Given the description of an element on the screen output the (x, y) to click on. 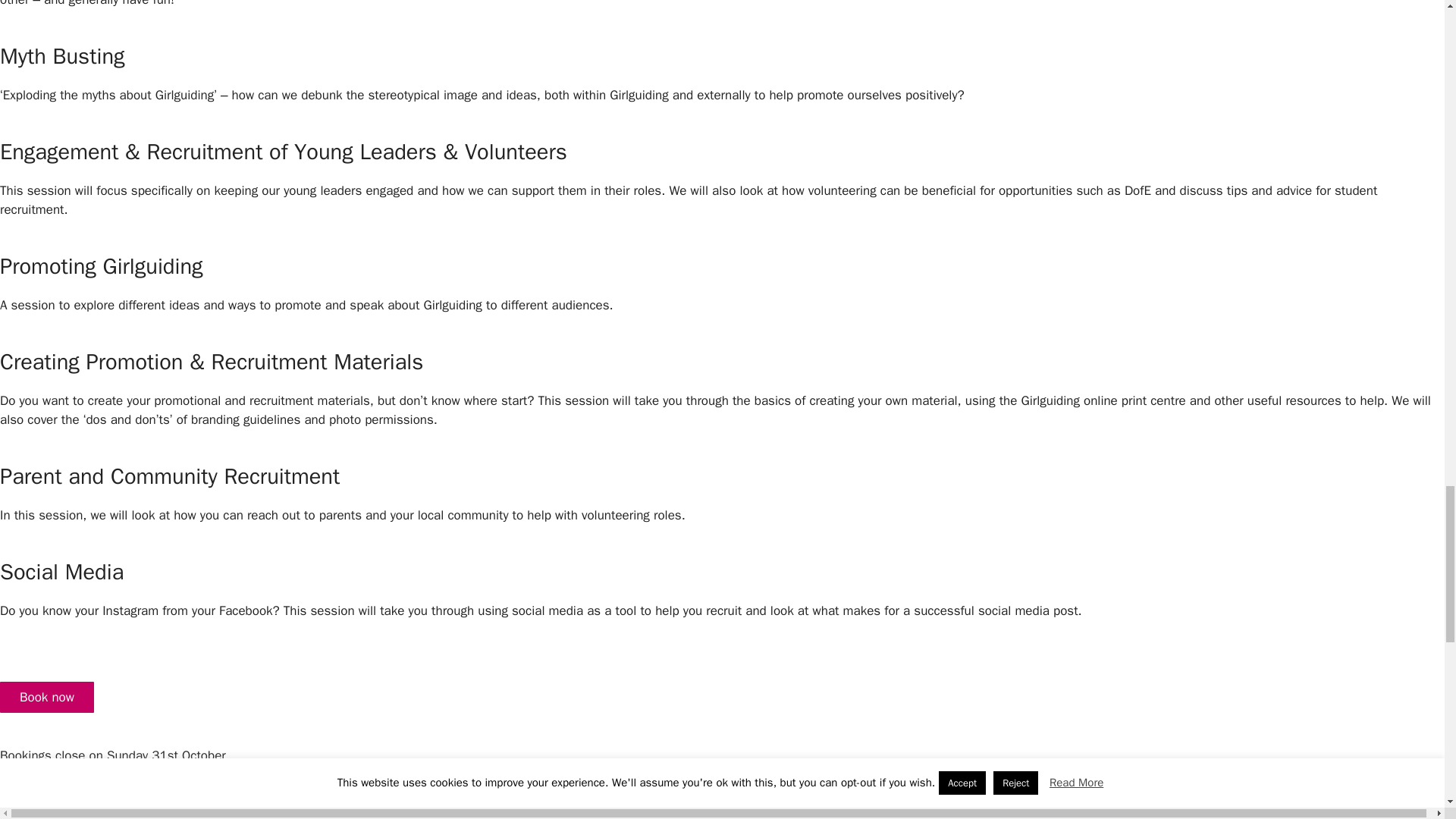
News (30, 794)
County Name when Registering for Region First Aid Courses (159, 811)
Book now (47, 697)
